Given the description of an element on the screen output the (x, y) to click on. 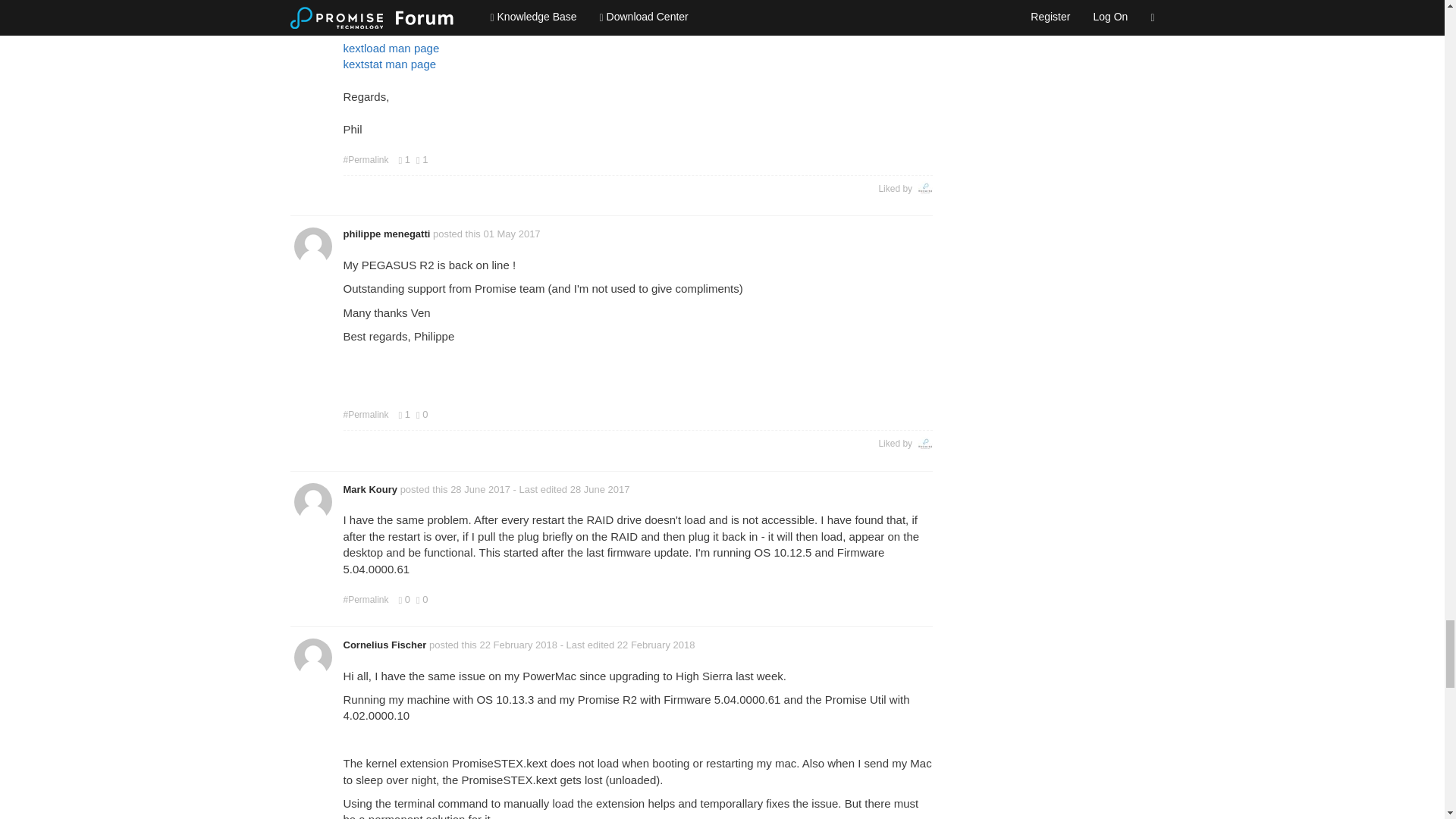
Pradeep Chidambaranath (925, 444)
Pradeep Chidambaranath (925, 188)
